Given the description of an element on the screen output the (x, y) to click on. 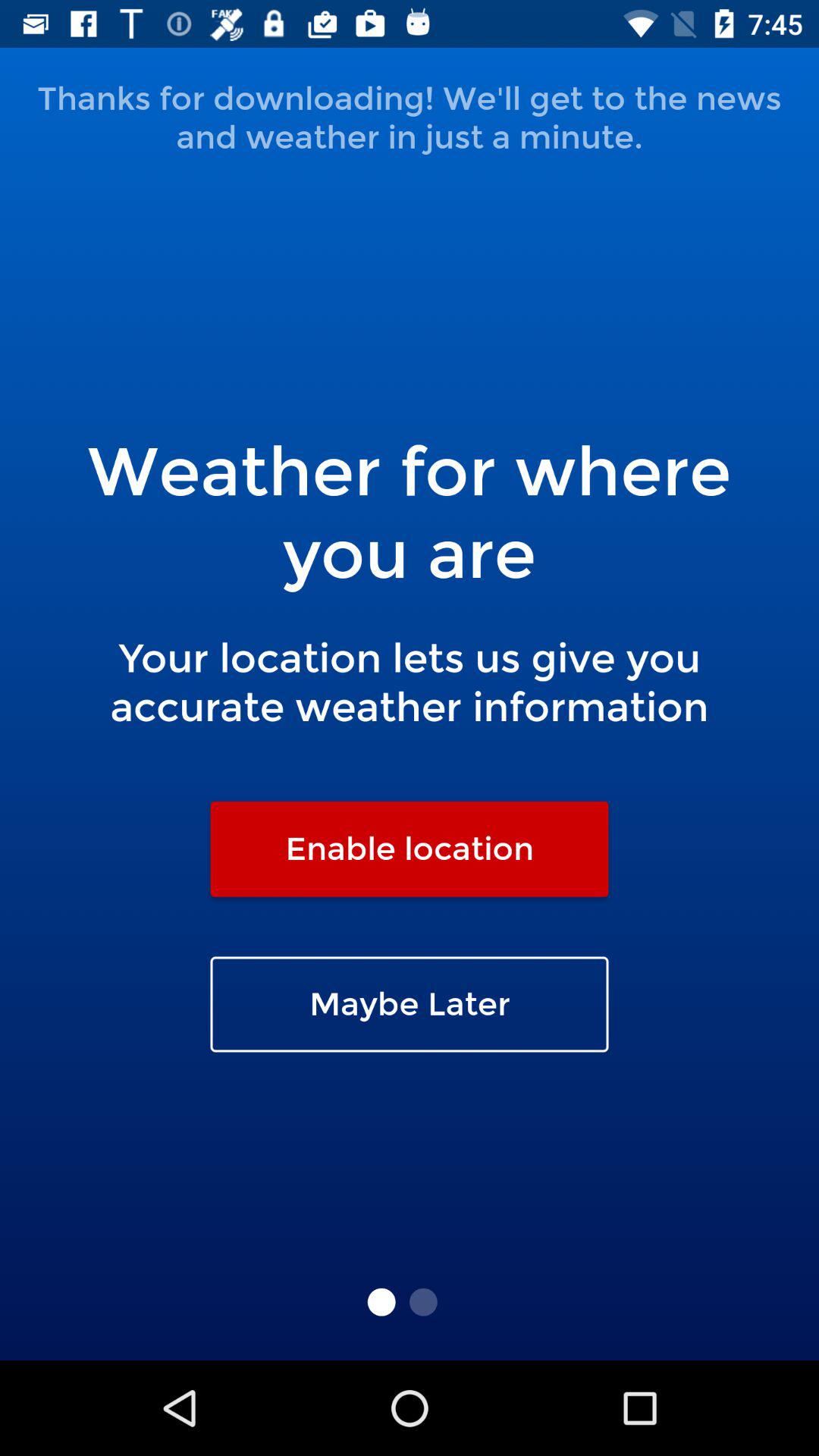
select icon below enable location (409, 1004)
